Given the description of an element on the screen output the (x, y) to click on. 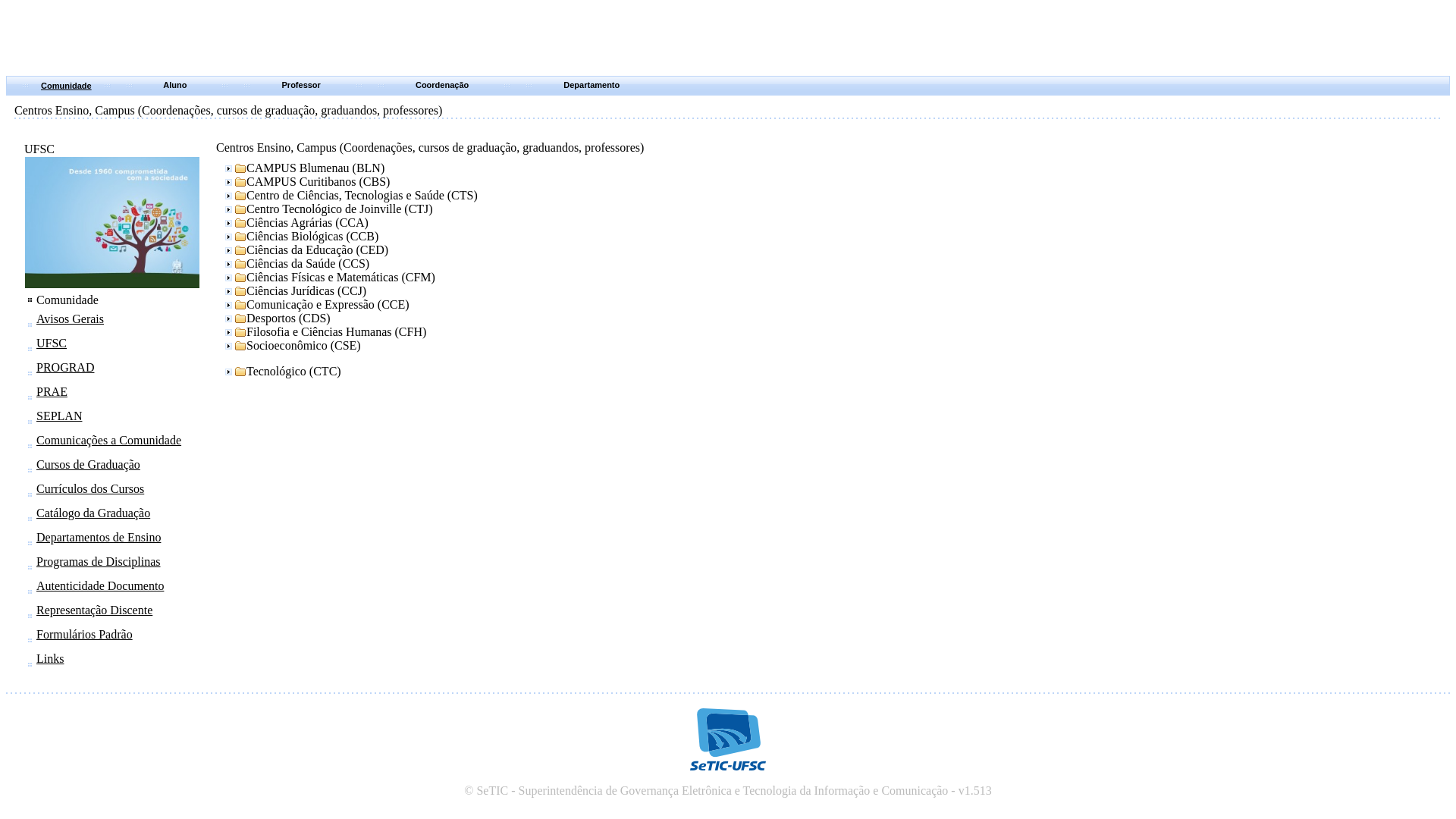
Professor Element type: text (302, 85)
SEPLAN Element type: text (58, 415)
PRAE Element type: text (51, 391)
CAMPUS Blumenau (BLN) Element type: text (303, 168)
PROGRAD Element type: text (65, 366)
Aluno Element type: text (177, 85)
Departamento Element type: text (591, 84)
Comunidade Element type: text (65, 85)
Departamento Element type: text (592, 85)
Avisos Gerais Element type: text (69, 318)
Aluno Element type: text (174, 84)
Desportos (CDS) Element type: text (276, 318)
CAMPUS Curitibanos (CBS) Element type: text (305, 181)
Links Element type: text (49, 658)
Autenticidade Documento Element type: text (99, 585)
UFSC Element type: text (51, 342)
Programas de Disciplinas Element type: text (98, 561)
Departamentos de Ensino Element type: text (98, 536)
Professor Element type: text (301, 84)
